Given the description of an element on the screen output the (x, y) to click on. 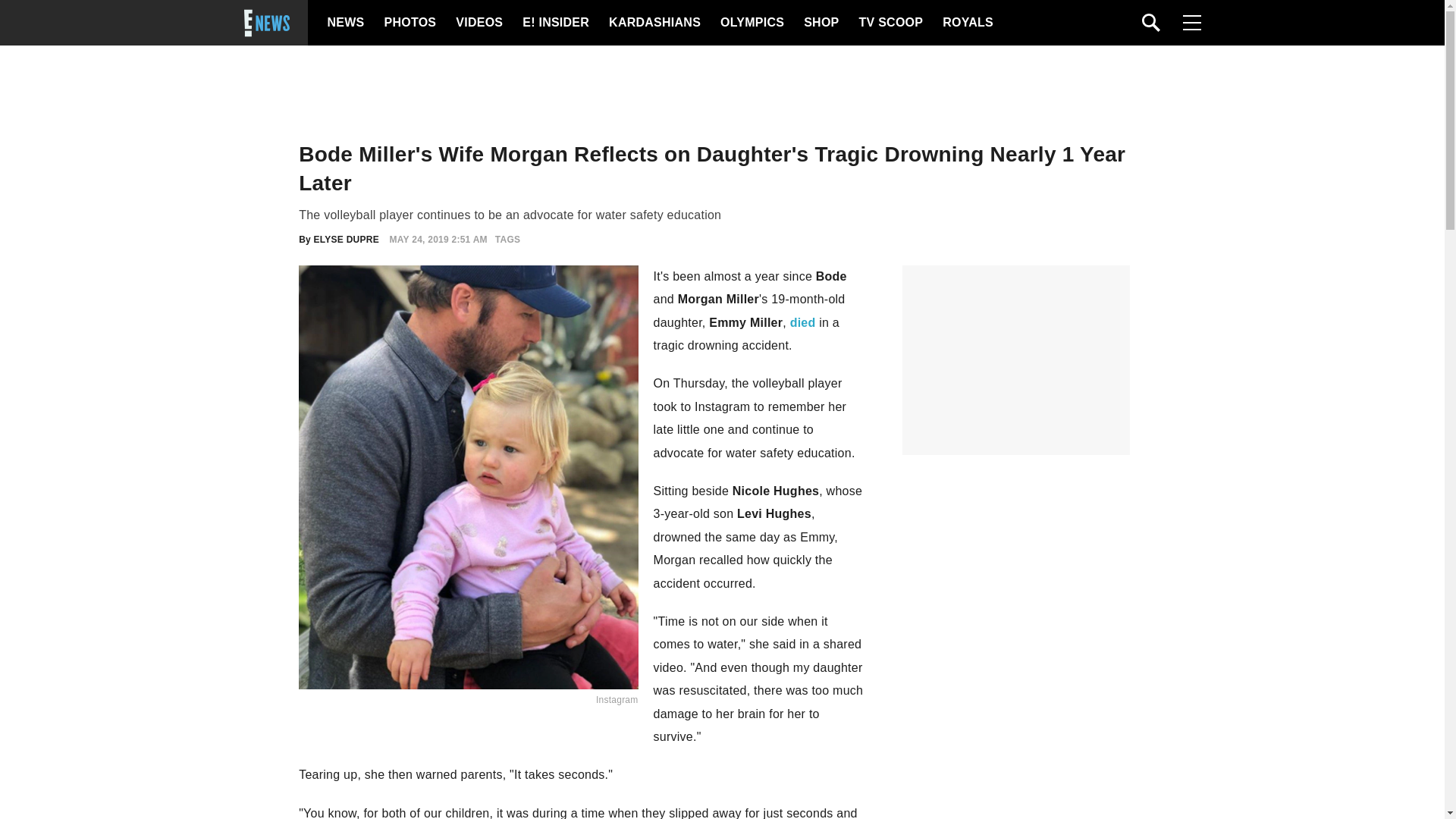
SHOP (820, 22)
VIDEOS (478, 22)
ROYALS (966, 22)
E! INSIDER (555, 22)
KARDASHIANS (653, 22)
PHOTOS (408, 22)
NEWS (345, 22)
OLYMPICS (751, 22)
died (802, 322)
ELYSE DUPRE (346, 239)
